Given the description of an element on the screen output the (x, y) to click on. 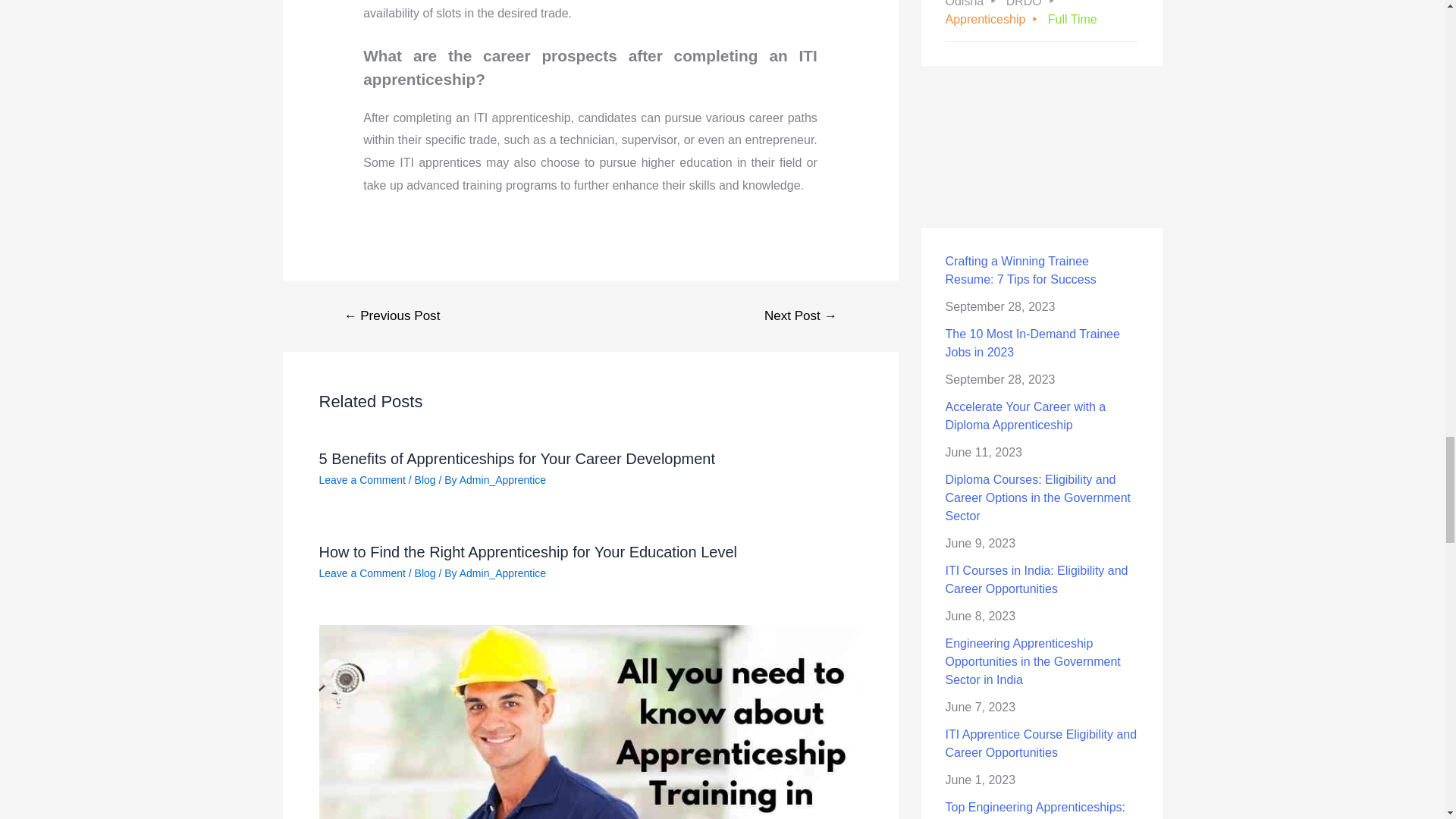
5 Benefits of Apprenticeships for Your Career Development (516, 458)
